Given the description of an element on the screen output the (x, y) to click on. 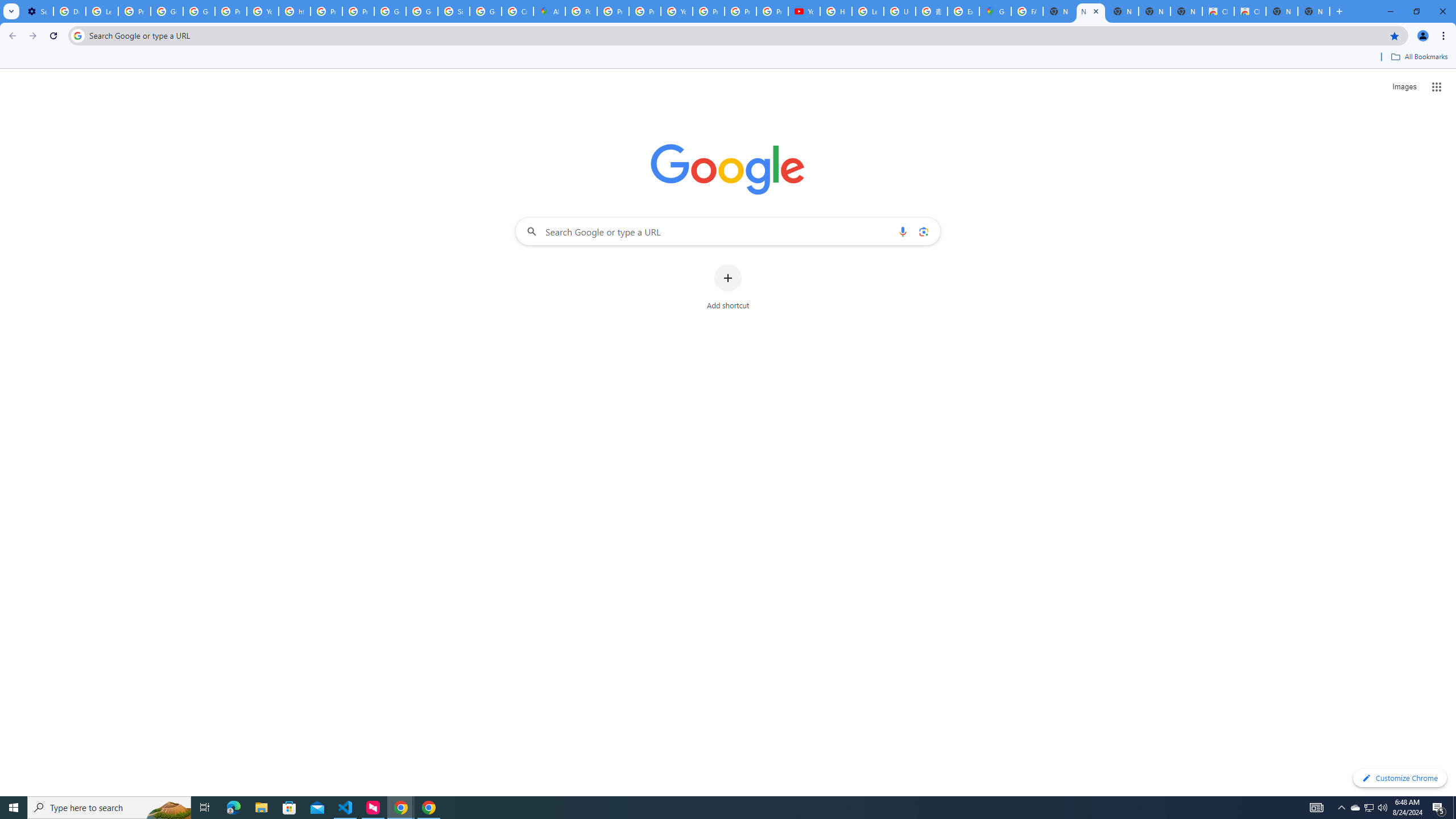
Privacy Help Center - Policies Help (326, 11)
YouTube (804, 11)
Search Google or type a URL (727, 230)
How Chrome protects your passwords - Google Chrome Help (836, 11)
Sign in - Google Accounts (453, 11)
